Given the description of an element on the screen output the (x, y) to click on. 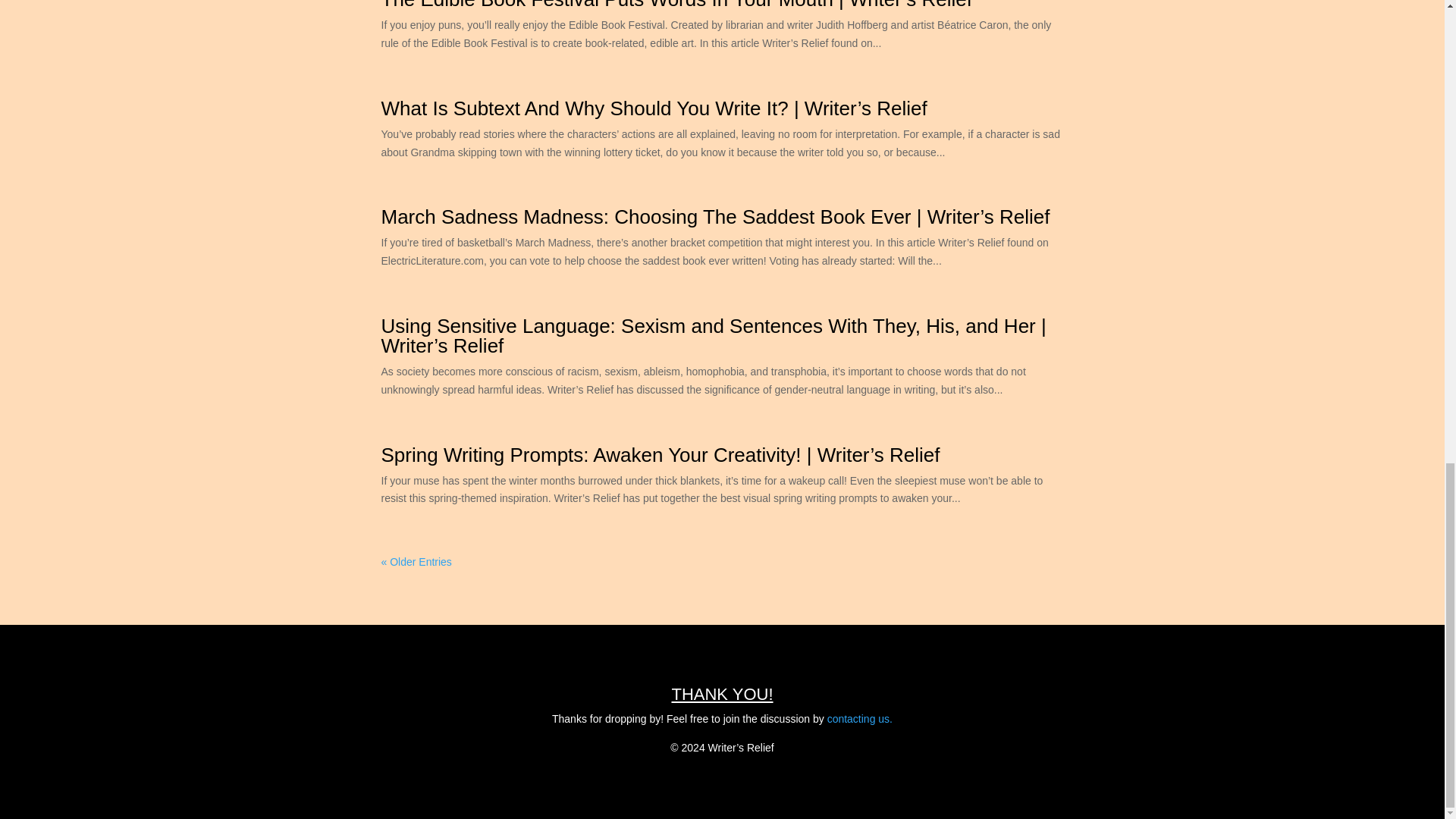
contacting us. (859, 718)
